Given the description of an element on the screen output the (x, y) to click on. 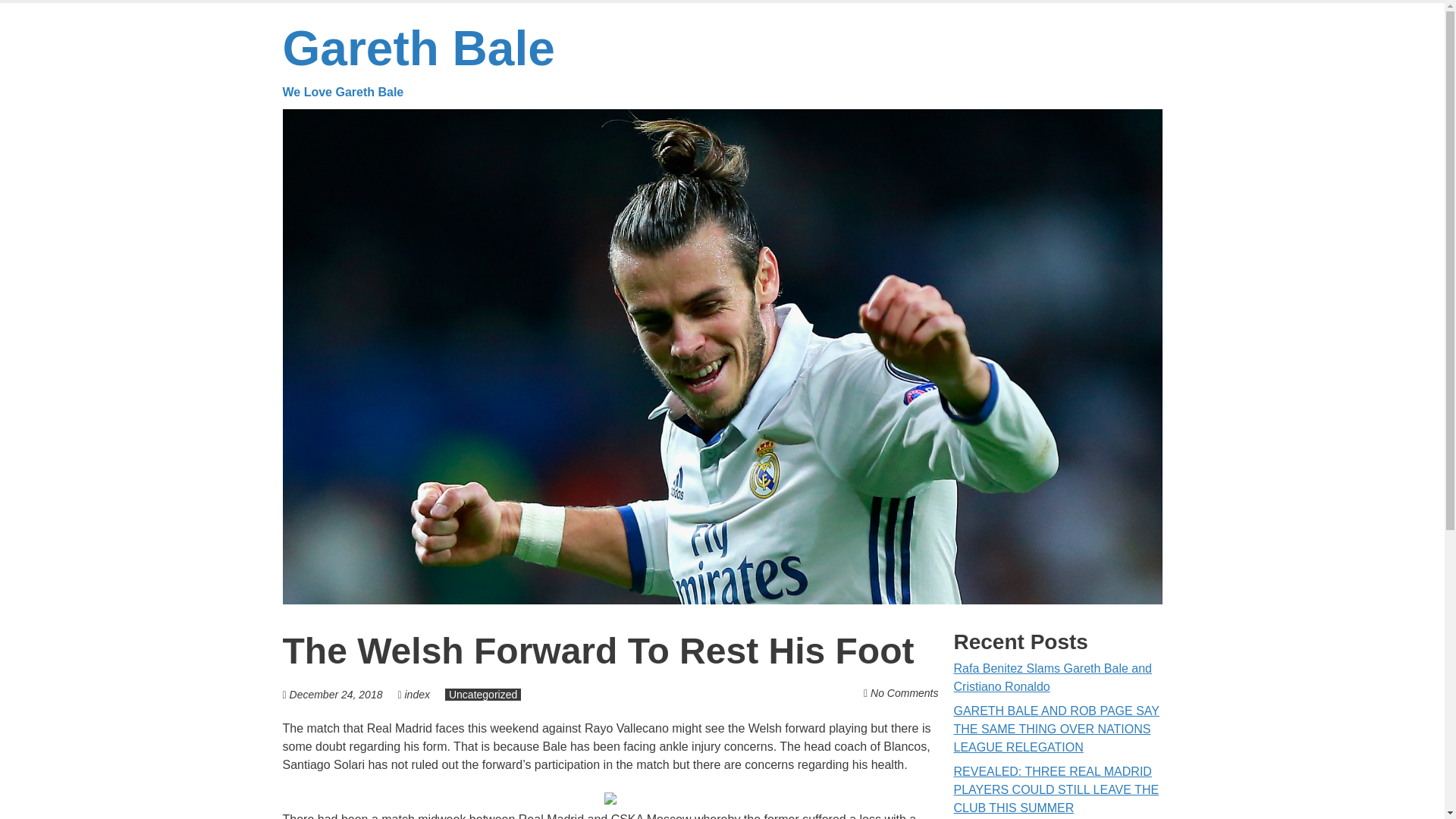
Comment on The Welsh Forward To Rest His Foot (418, 60)
Uncategorized (903, 693)
index (483, 694)
View all posts by index (416, 694)
December 24, 2018 (416, 694)
Rafa Benitez Slams Gareth Bale and Cristiano Ronaldo (335, 694)
Gareth Bale (1052, 676)
